Given the description of an element on the screen output the (x, y) to click on. 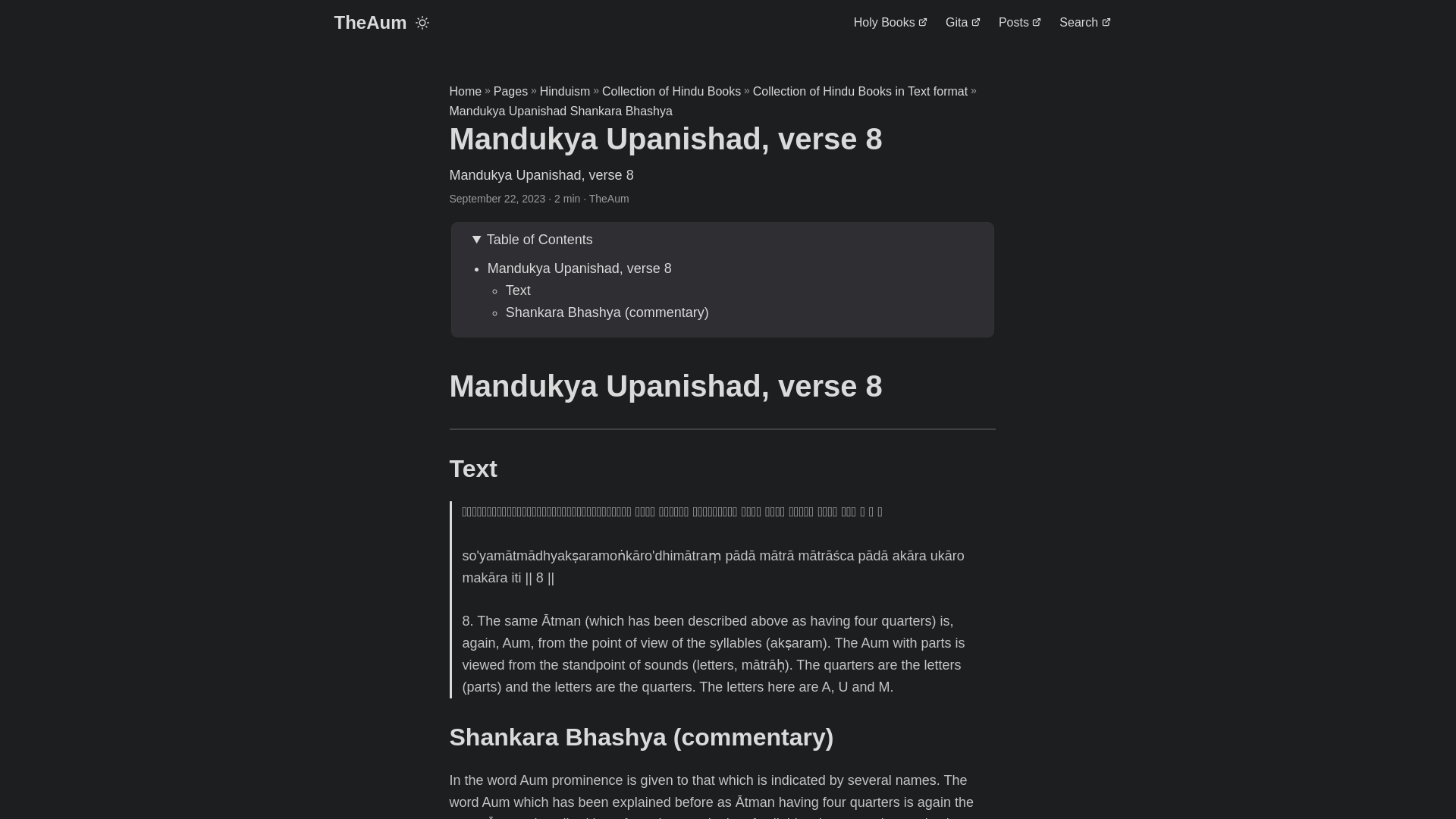
Collection of Hindu Books in Text format (860, 91)
TheAum (369, 22)
Posts (1019, 22)
Collection of Hindu Books (671, 91)
Mandukya Upanishad Shankara Bhashya (559, 111)
Holy Books  (890, 22)
Text (518, 290)
Pages (510, 91)
Mandukya Upanishad, verse 8 (579, 268)
Hinduism (565, 91)
